Given the description of an element on the screen output the (x, y) to click on. 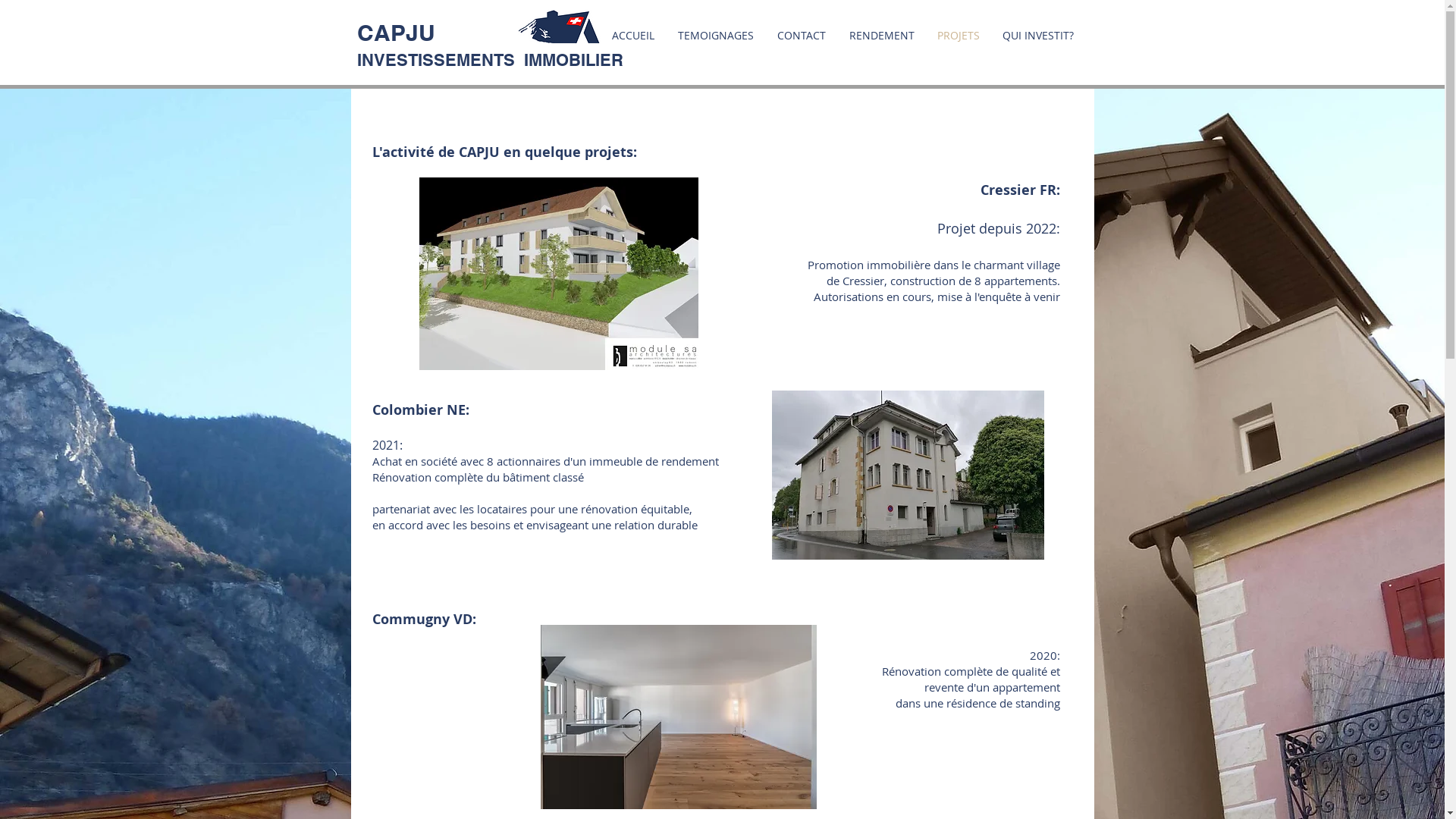
TEMOIGNAGES Element type: text (715, 35)
ACCUEIL Element type: text (633, 35)
IMMOBILIER Element type: text (572, 59)
RENDEMENT Element type: text (881, 35)
CAPJU  Element type: text (398, 32)
INVESTISSEMENTS   Element type: text (439, 59)
CONTACT Element type: text (801, 35)
PROJETS Element type: text (957, 35)
QUI INVESTIT? Element type: text (1037, 35)
Logo%20Bleu%20%231E3054%20RGB%2030%2048% Element type: hover (558, 26)
